Given the description of an element on the screen output the (x, y) to click on. 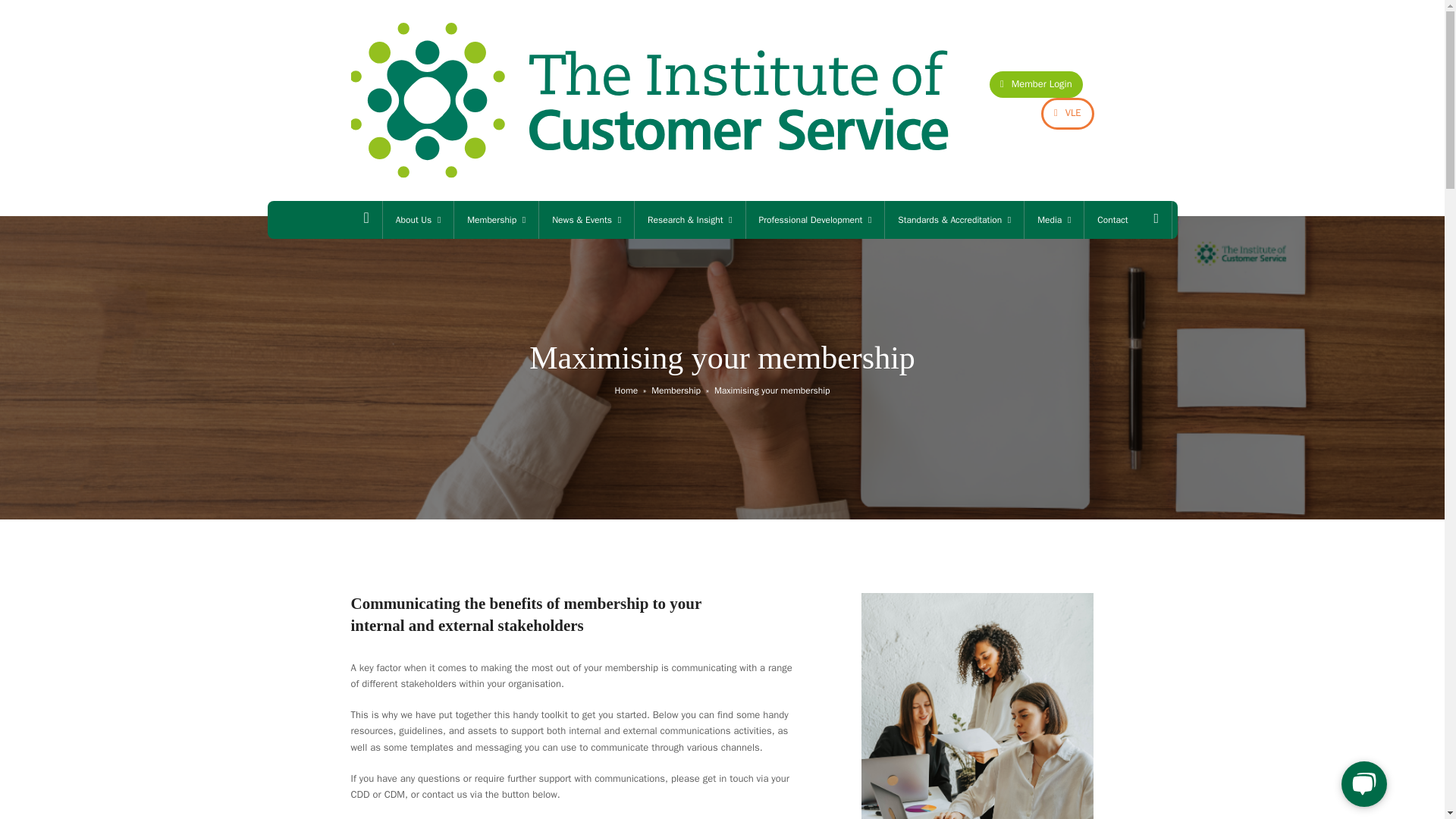
About Us (417, 219)
Professional Development (815, 219)
About The Institute of Customer Service (417, 219)
Membership (496, 219)
Virtual Learning Environment (1067, 112)
VLE (1067, 112)
Member Login (1035, 84)
